Given the description of an element on the screen output the (x, y) to click on. 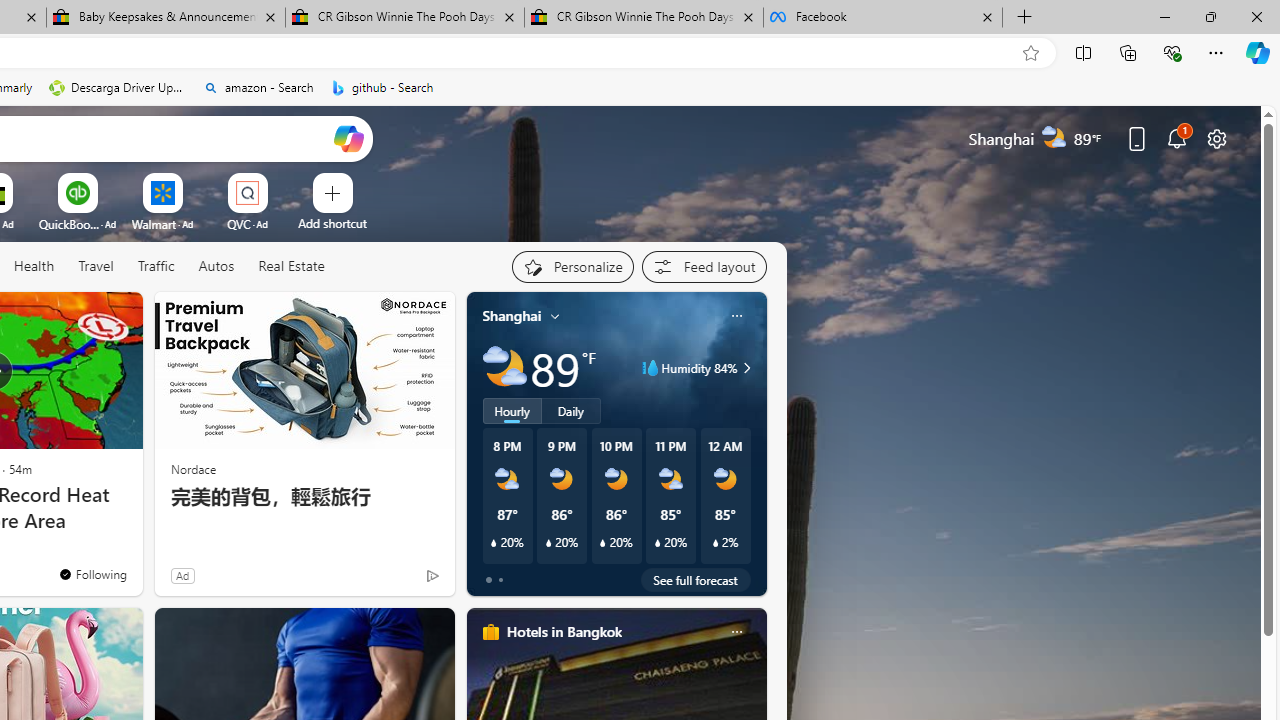
Page settings (1216, 138)
hotels-header-icon (490, 632)
My location (555, 315)
Real Estate (291, 265)
More options (736, 631)
Autos (215, 265)
Facebook (883, 17)
